Given the description of an element on the screen output the (x, y) to click on. 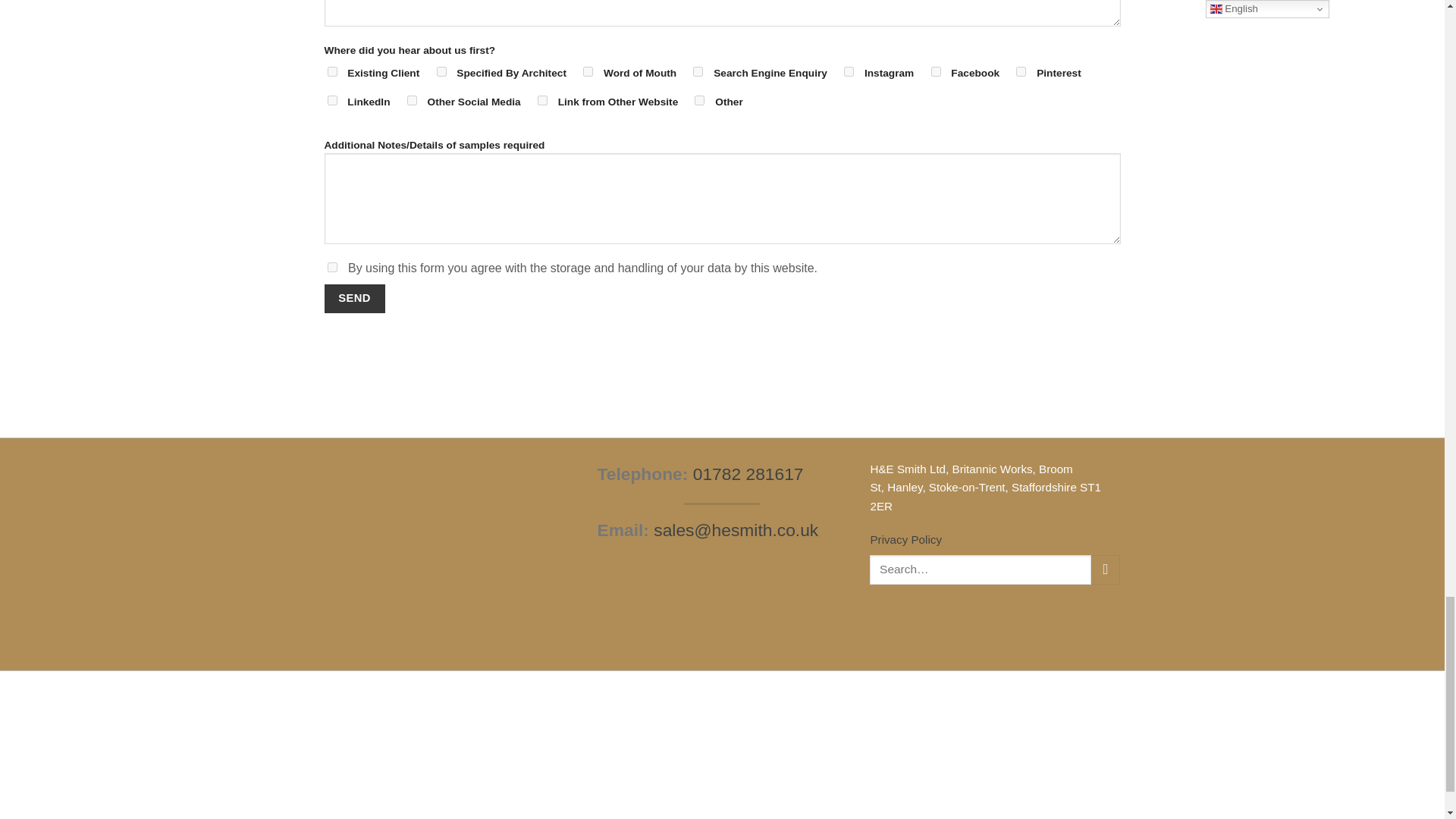
Specified By Architect (441, 71)
Instagram (848, 71)
Other (699, 100)
Facebook (935, 71)
Other Social Media (411, 100)
Search Engine Enquiry (698, 71)
1 (332, 266)
Existing Client (332, 71)
Word of Mouth (587, 71)
Link from Other Website (542, 100)
